Given the description of an element on the screen output the (x, y) to click on. 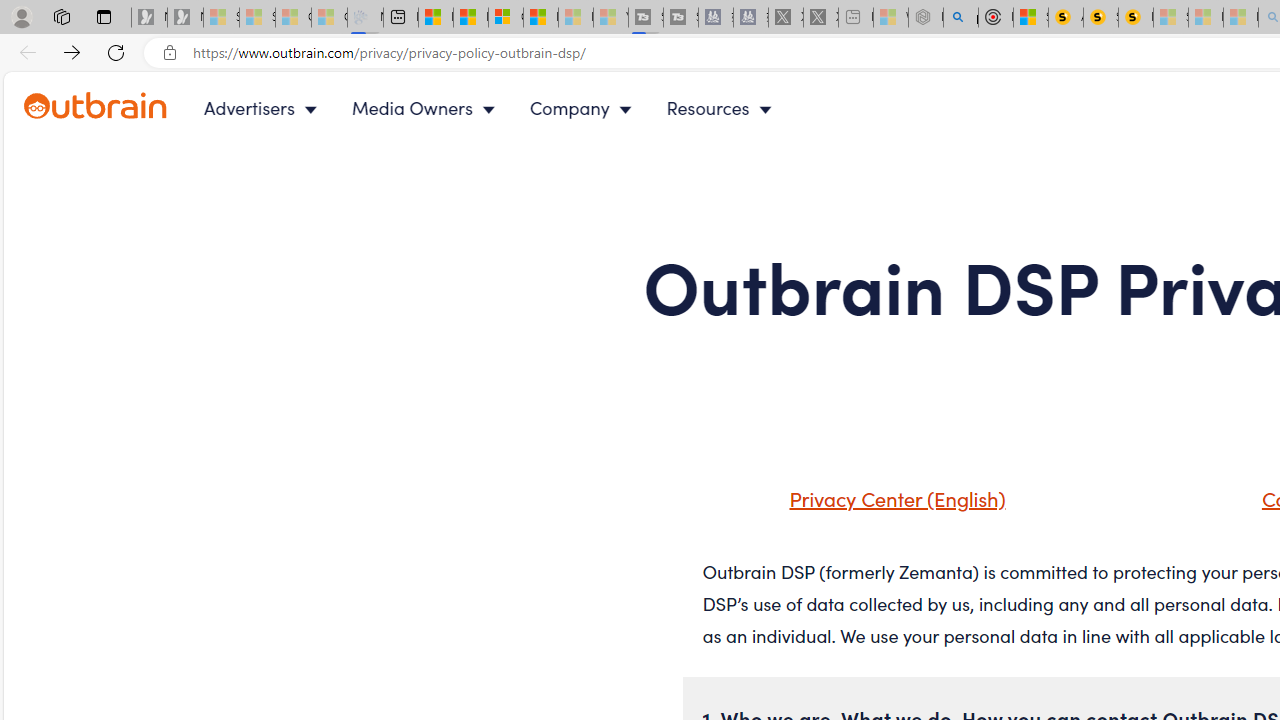
Privacy Center (English) (892, 497)
Outbrain logo - link to homepage (118, 107)
Advertisers (264, 107)
Wildlife - MSN - Sleeping (890, 17)
